Given the description of an element on the screen output the (x, y) to click on. 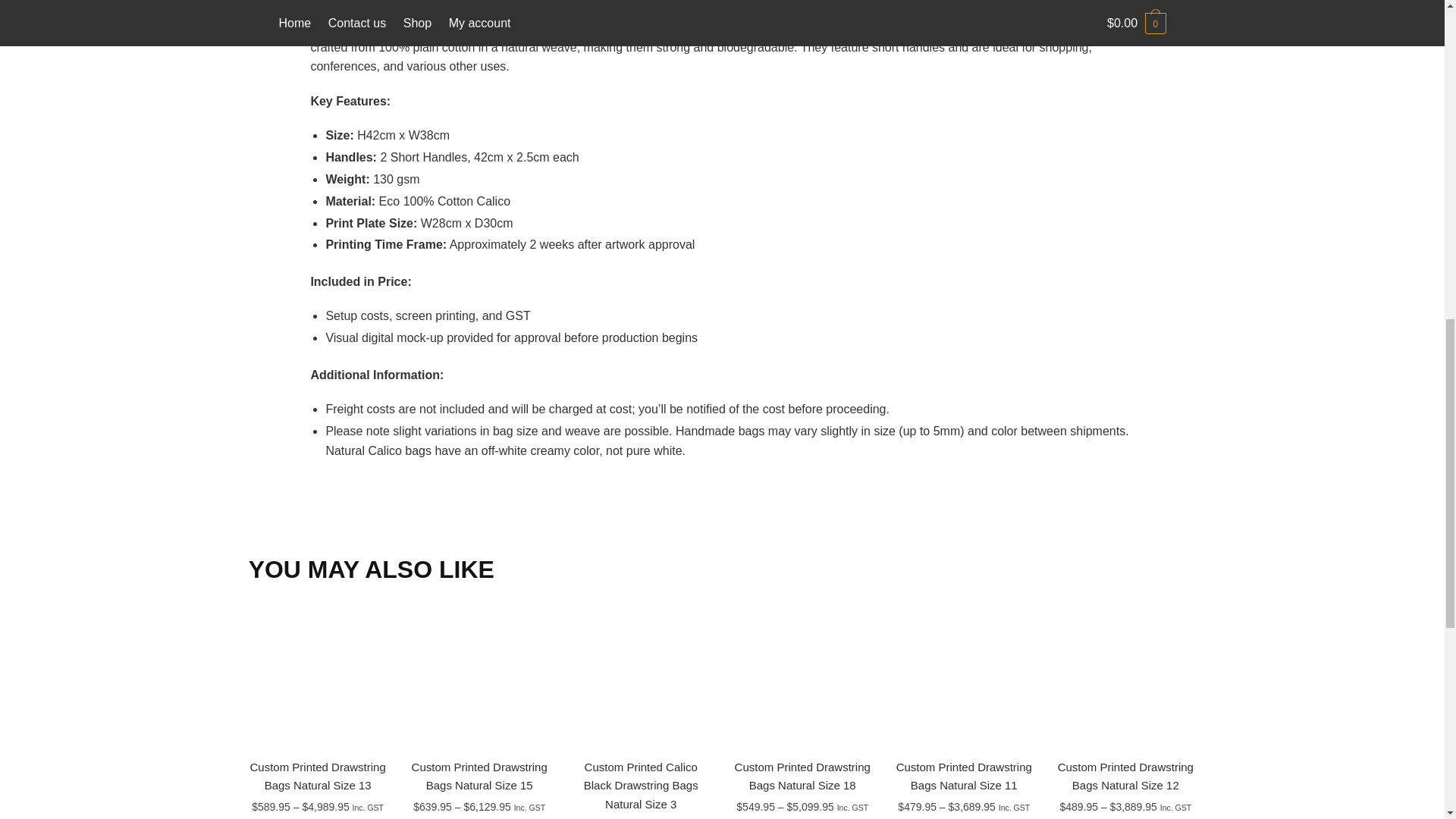
Custom Printed Drawstring Bags Natural Size 18 (802, 678)
Custom Printed Drawstring Bags Natural Size 13 (317, 678)
Custom Printed Drawstring Bags Natural Size 15 (479, 678)
Custom Printed Calico Black Drawstring Bags Natural Size 3 (641, 678)
Custom Printed Drawstring Bags Natural Size 11 (964, 678)
Custom Printed Drawstring Bags Natural Size 12 (1126, 678)
